Given the description of an element on the screen output the (x, y) to click on. 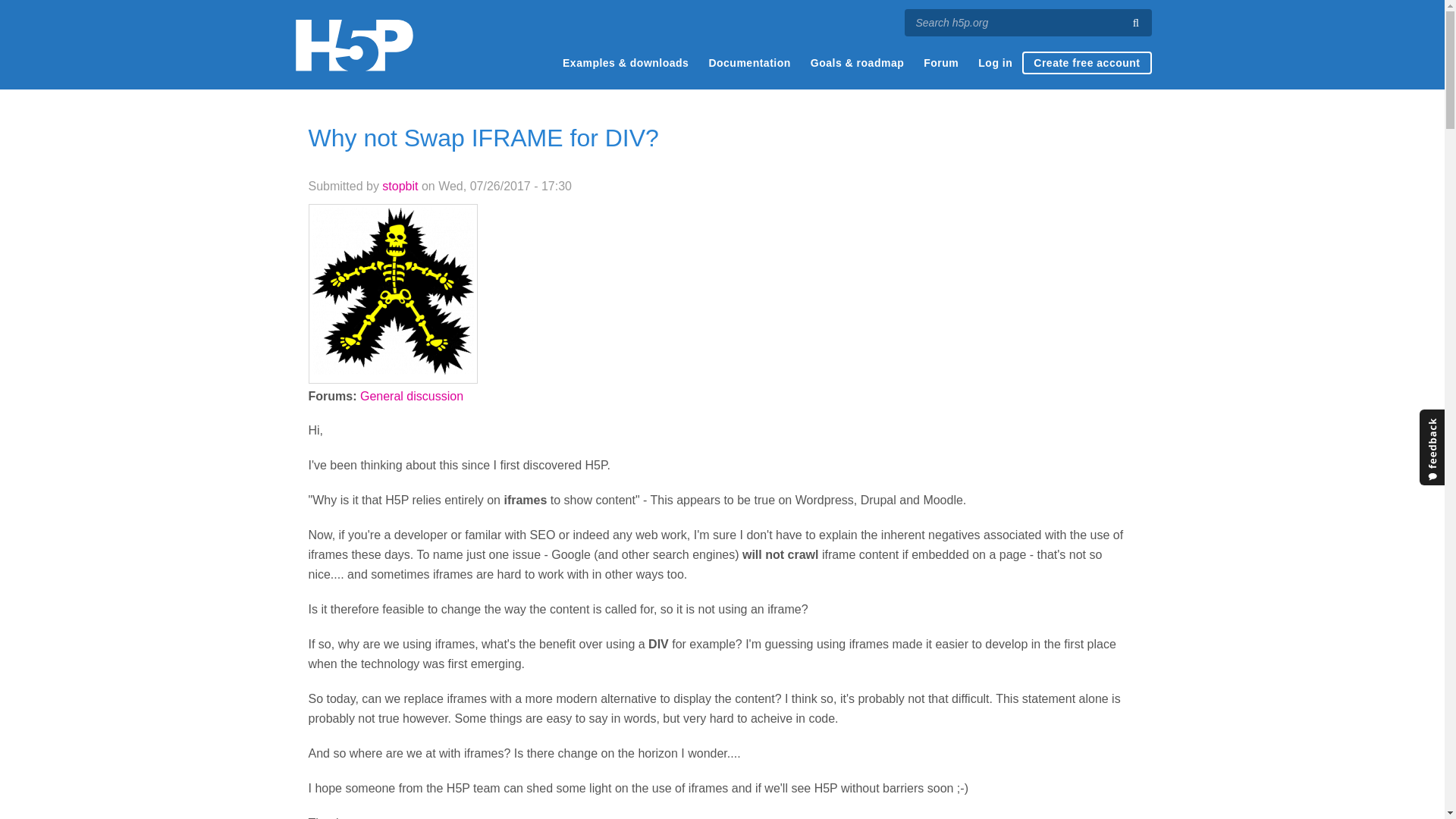
Create free account (1086, 62)
General discussion (411, 395)
stopbit's picture (393, 291)
stopbit (399, 185)
View user profile. (399, 185)
Documentation (748, 62)
Front page (353, 44)
View user profile. (393, 369)
Log in (994, 62)
Forum (940, 62)
